Given the description of an element on the screen output the (x, y) to click on. 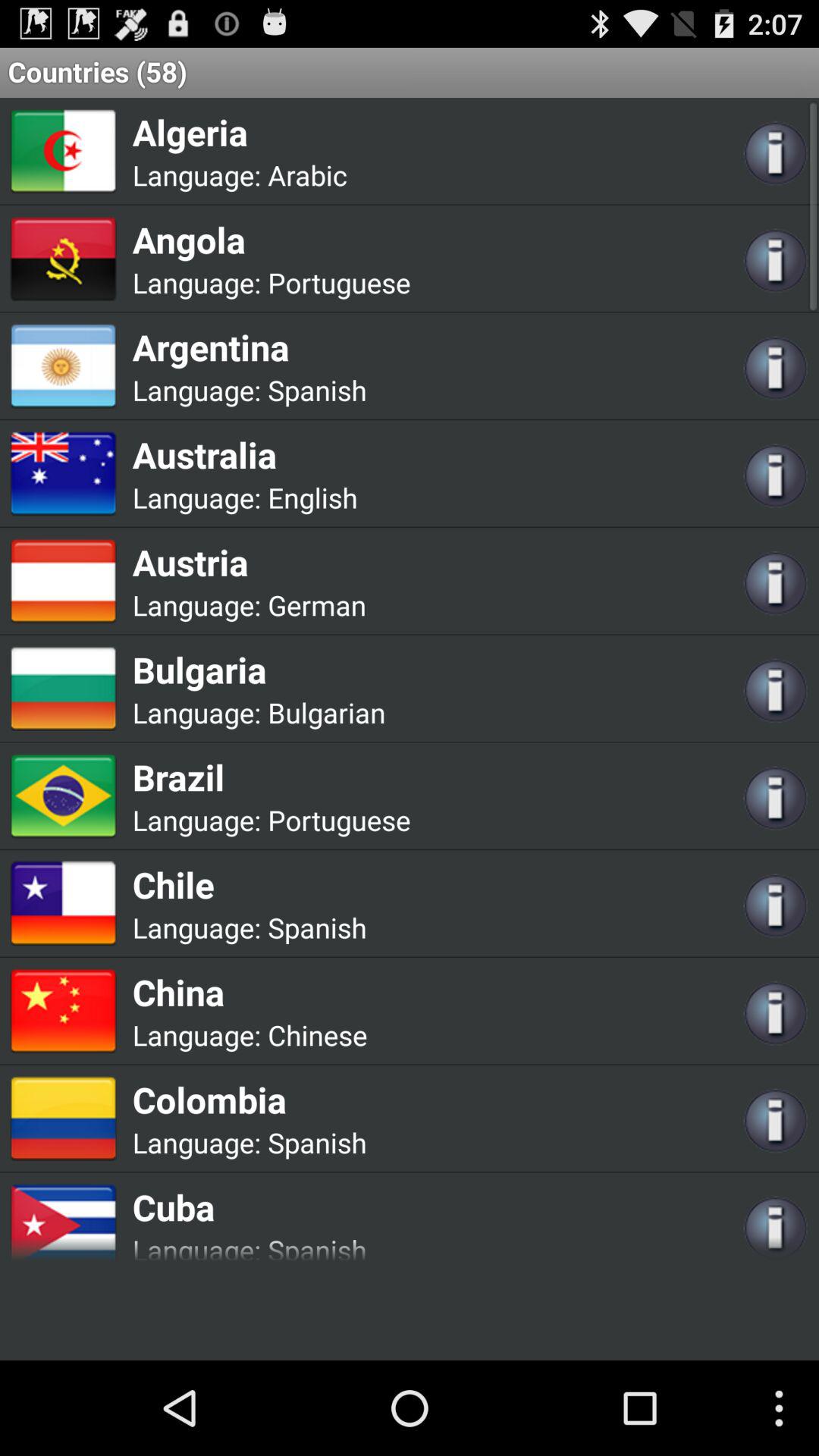
choose item below the language:  app (249, 562)
